Given the description of an element on the screen output the (x, y) to click on. 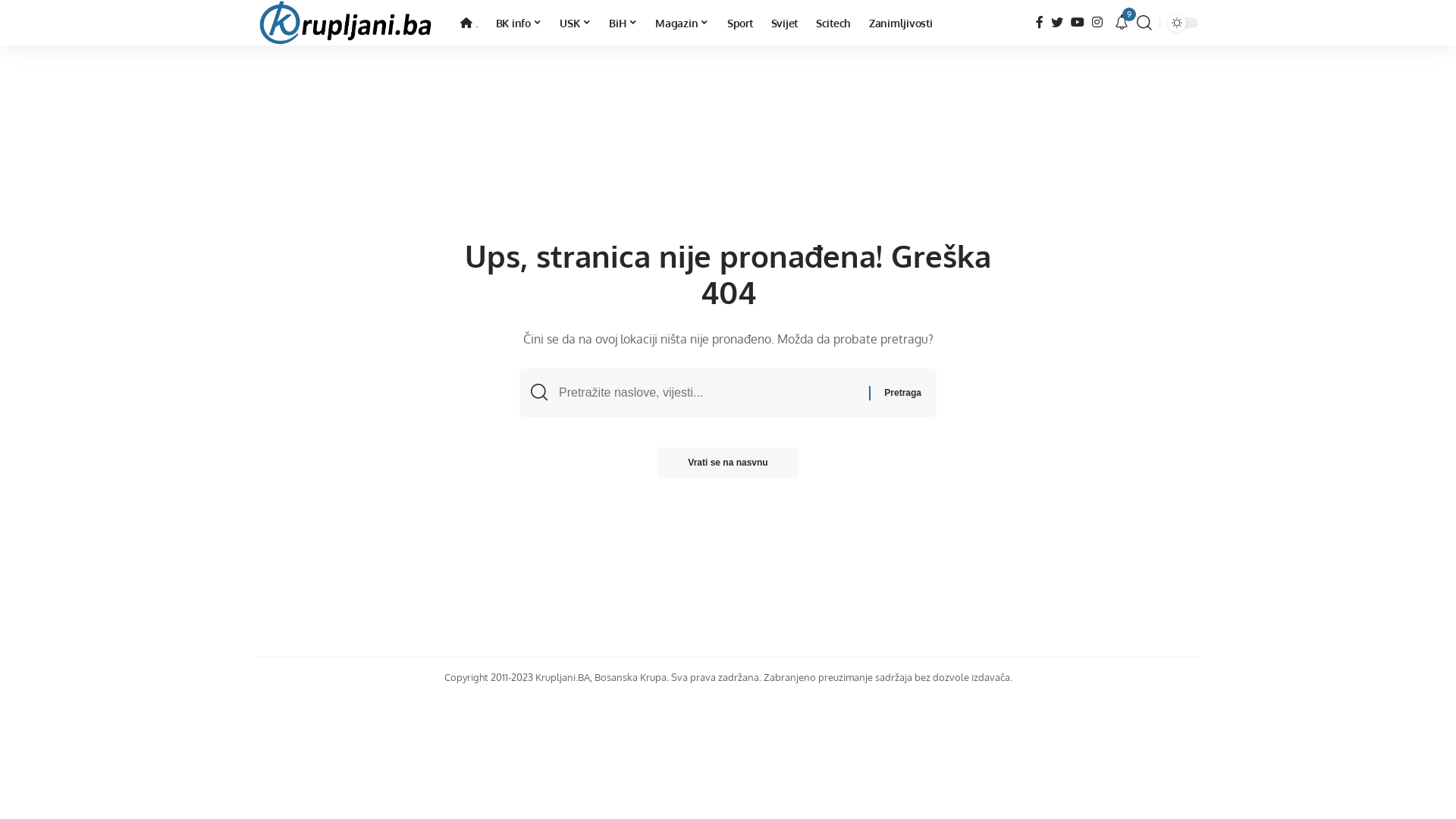
Zanimljivosti Element type: text (900, 22)
9 Element type: text (1121, 22)
. Element type: text (468, 22)
Scitech Element type: text (832, 22)
Krupljani.BA | Informativni portal Element type: hover (346, 22)
Svijet Element type: text (784, 22)
USK Element type: text (574, 22)
Pretraga Element type: text (902, 392)
Sport Element type: text (740, 22)
BiH Element type: text (622, 22)
Magazin Element type: text (682, 22)
BK info Element type: text (518, 22)
Vrati se na nasvnu Element type: text (727, 462)
